Given the description of an element on the screen output the (x, y) to click on. 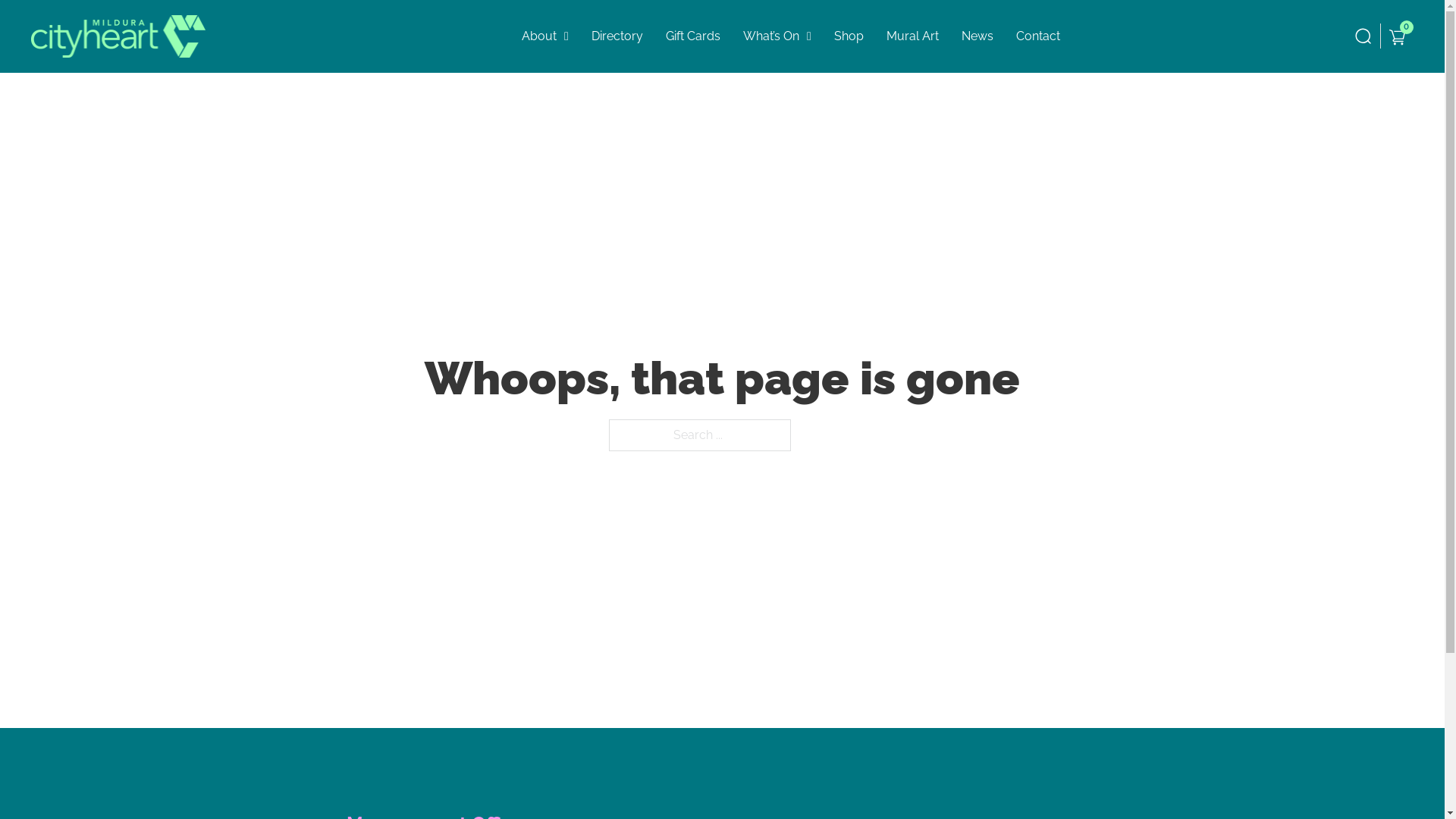
News Element type: text (977, 36)
Directory Element type: text (617, 36)
0 Element type: text (1396, 36)
Shop Element type: text (848, 36)
About Element type: text (538, 36)
Mural Art Element type: text (912, 36)
Search Element type: text (54, 73)
Contact Element type: text (1038, 36)
Gift Cards Element type: text (692, 36)
